Given the description of an element on the screen output the (x, y) to click on. 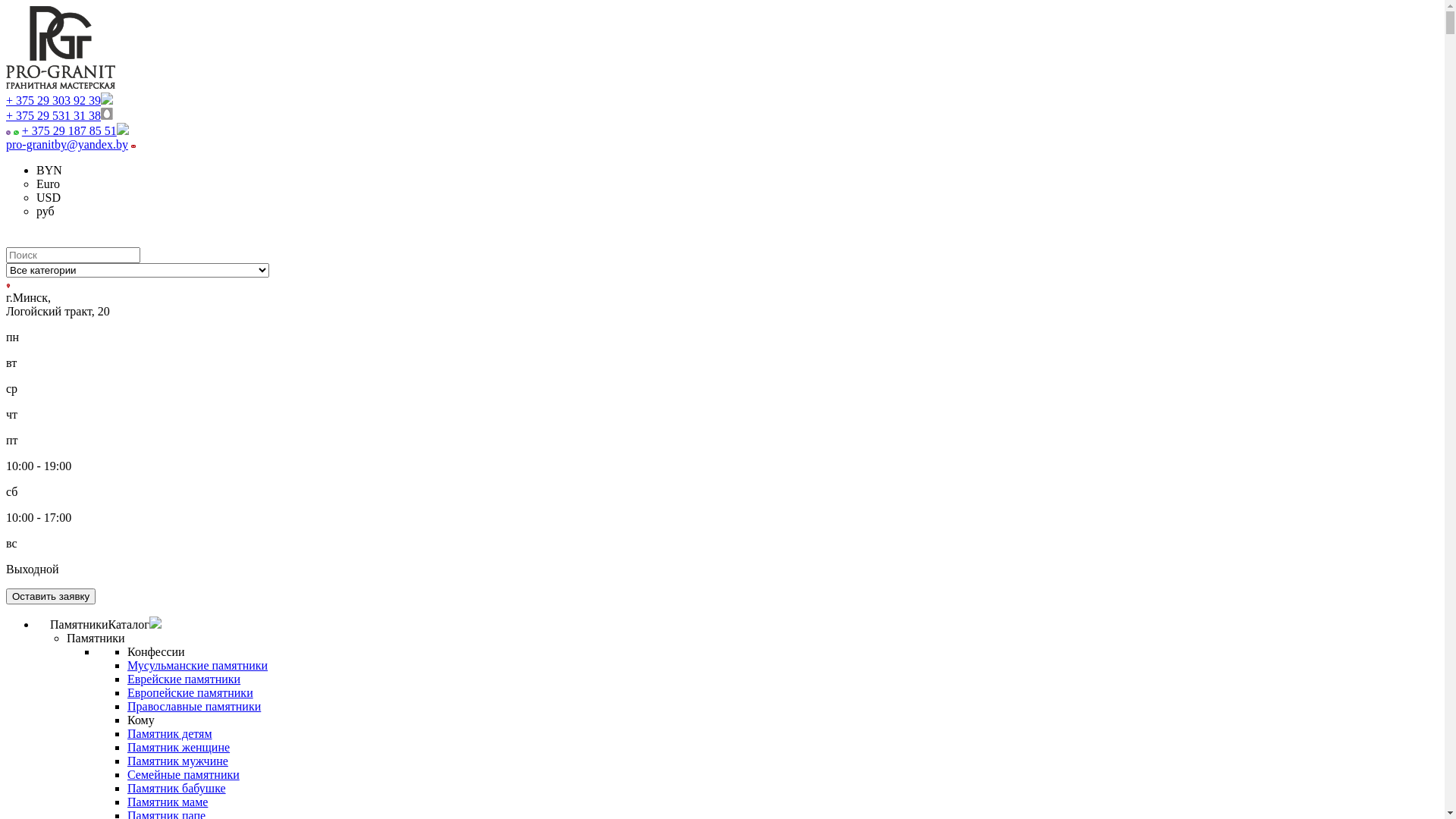
+ 375 29 531 31 38 Element type: text (59, 115)
Euro Element type: text (47, 183)
USD Element type: text (48, 197)
+ 375 29 303 92 39 Element type: text (59, 100)
BYN Element type: text (49, 169)
+ 375 29 187 85 51 Element type: text (74, 130)
pro-granitby@yandex.by Element type: text (67, 144)
